Given the description of an element on the screen output the (x, y) to click on. 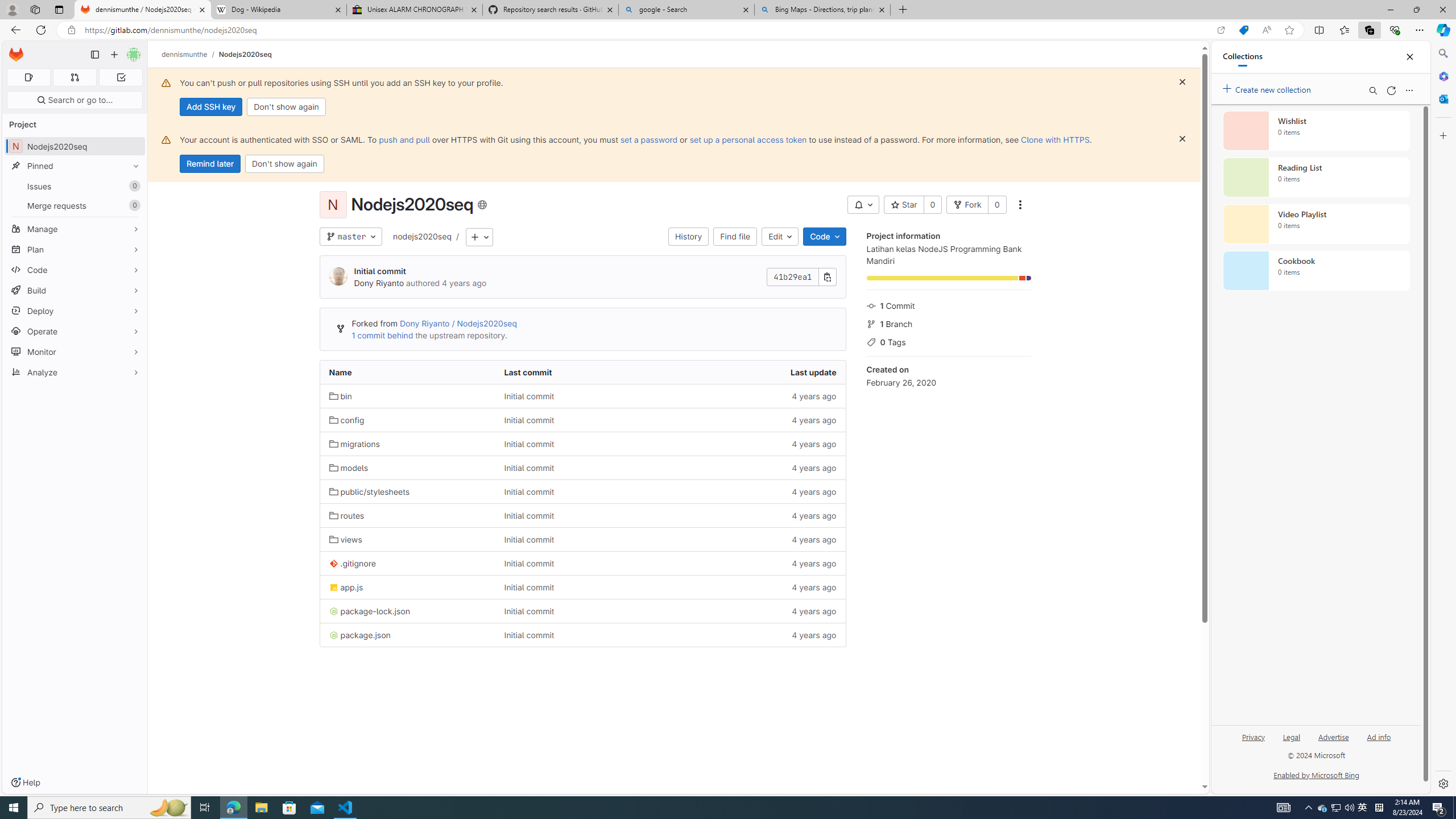
Open in app (1220, 29)
Clone with HTTPS (1054, 139)
bin (340, 395)
Copy commit SHA (827, 276)
Monitor (74, 351)
Split screen (1318, 29)
Name (407, 372)
Merge requests 0 (74, 205)
Close tab (881, 9)
Address and search bar (647, 29)
package-lock.json (369, 611)
Collections (1369, 29)
Code (824, 236)
Deploy (74, 310)
Assigned issues 0 (28, 76)
